Given the description of an element on the screen output the (x, y) to click on. 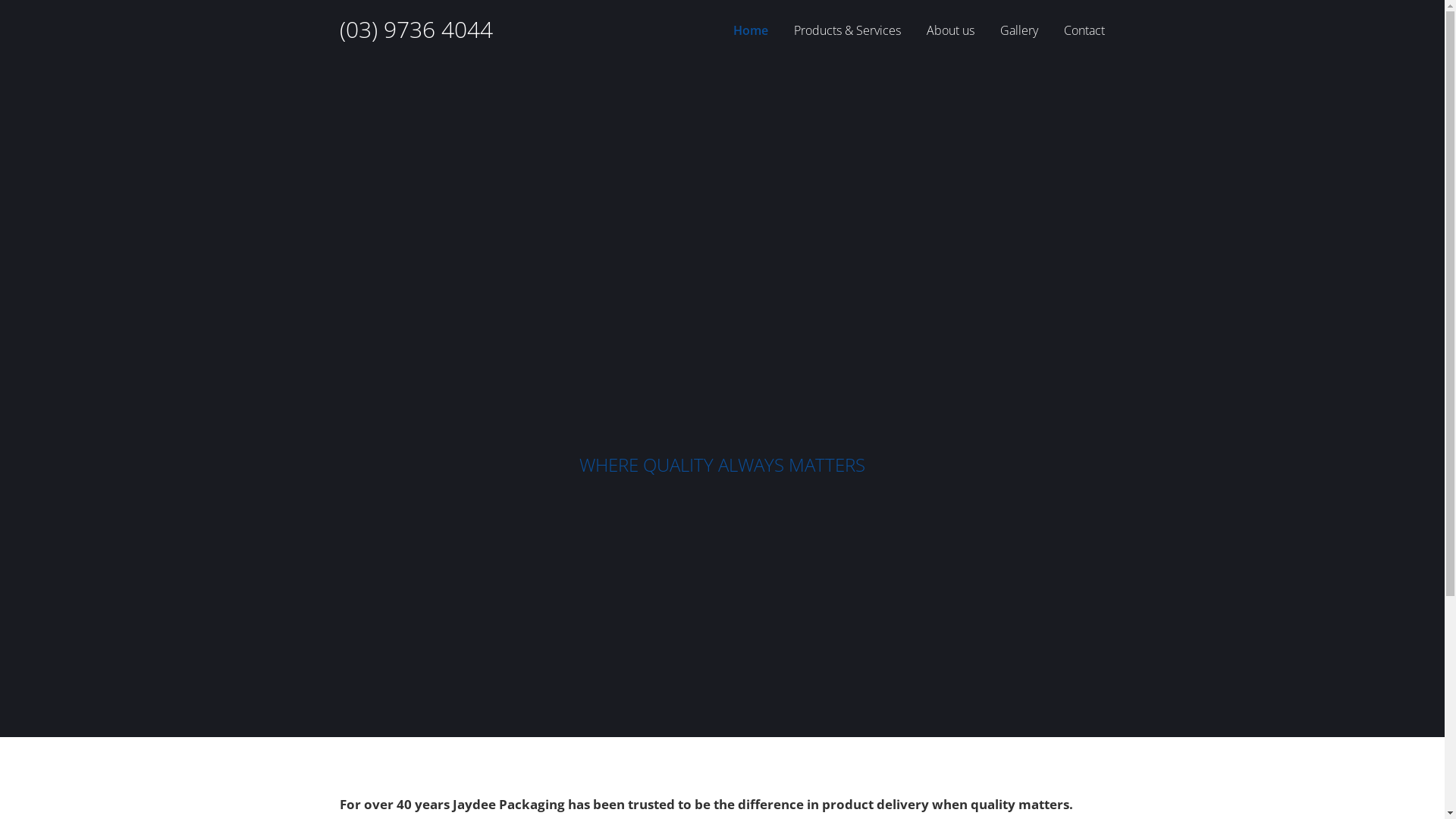
Home Element type: text (750, 29)
(03) 9736 4044 Element type: text (415, 28)
Products & Services Element type: text (846, 29)
About us Element type: text (950, 29)
Gallery Element type: text (1019, 29)
Contact Element type: text (1083, 29)
